Given the description of an element on the screen output the (x, y) to click on. 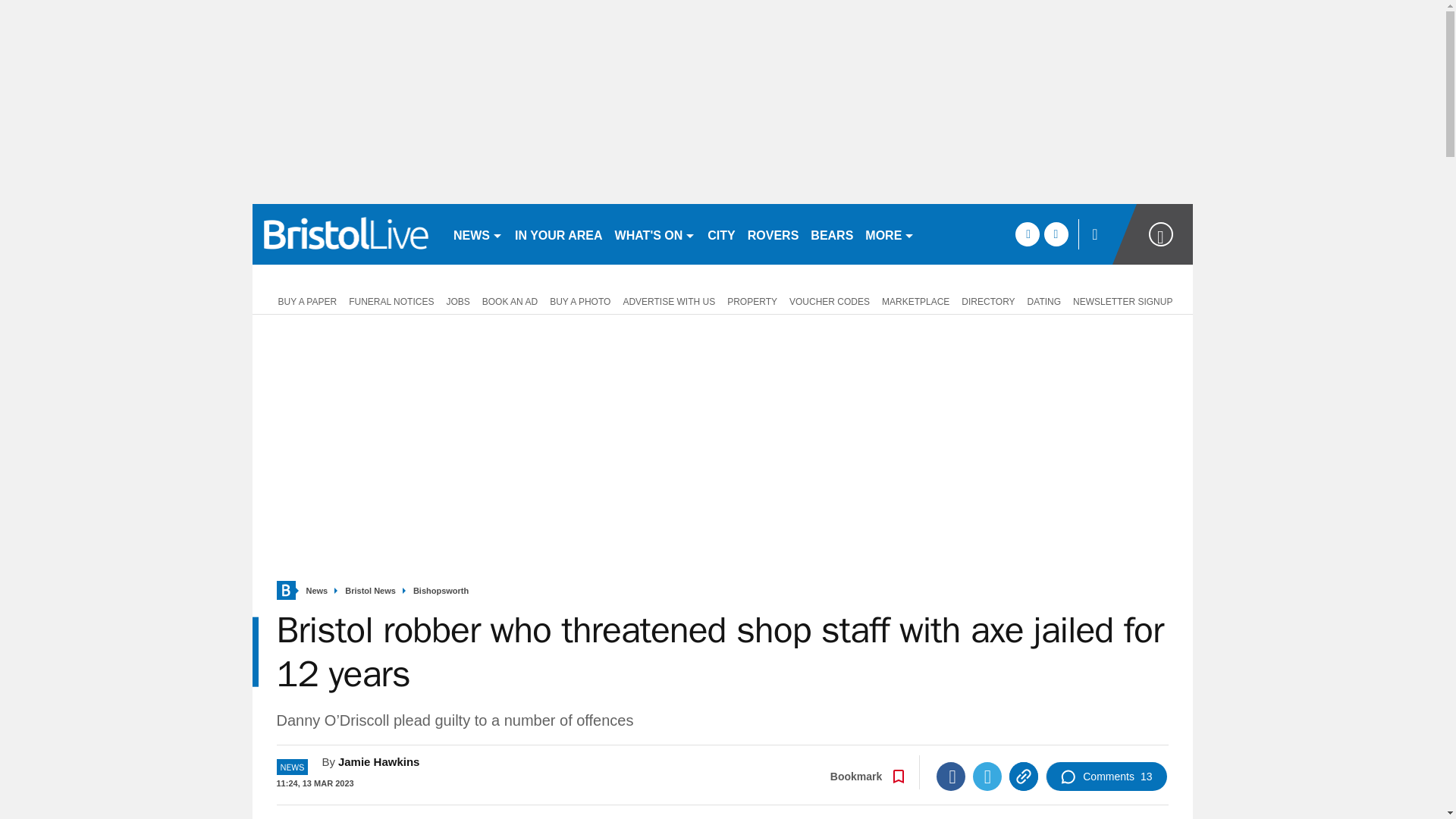
Comments (1105, 776)
IN YOUR AREA (558, 233)
WHAT'S ON (654, 233)
NEWS (477, 233)
BEARS (832, 233)
Twitter (986, 776)
ROVERS (773, 233)
bristolpost (345, 233)
facebook (1026, 233)
MORE (889, 233)
twitter (1055, 233)
Facebook (950, 776)
